Given the description of an element on the screen output the (x, y) to click on. 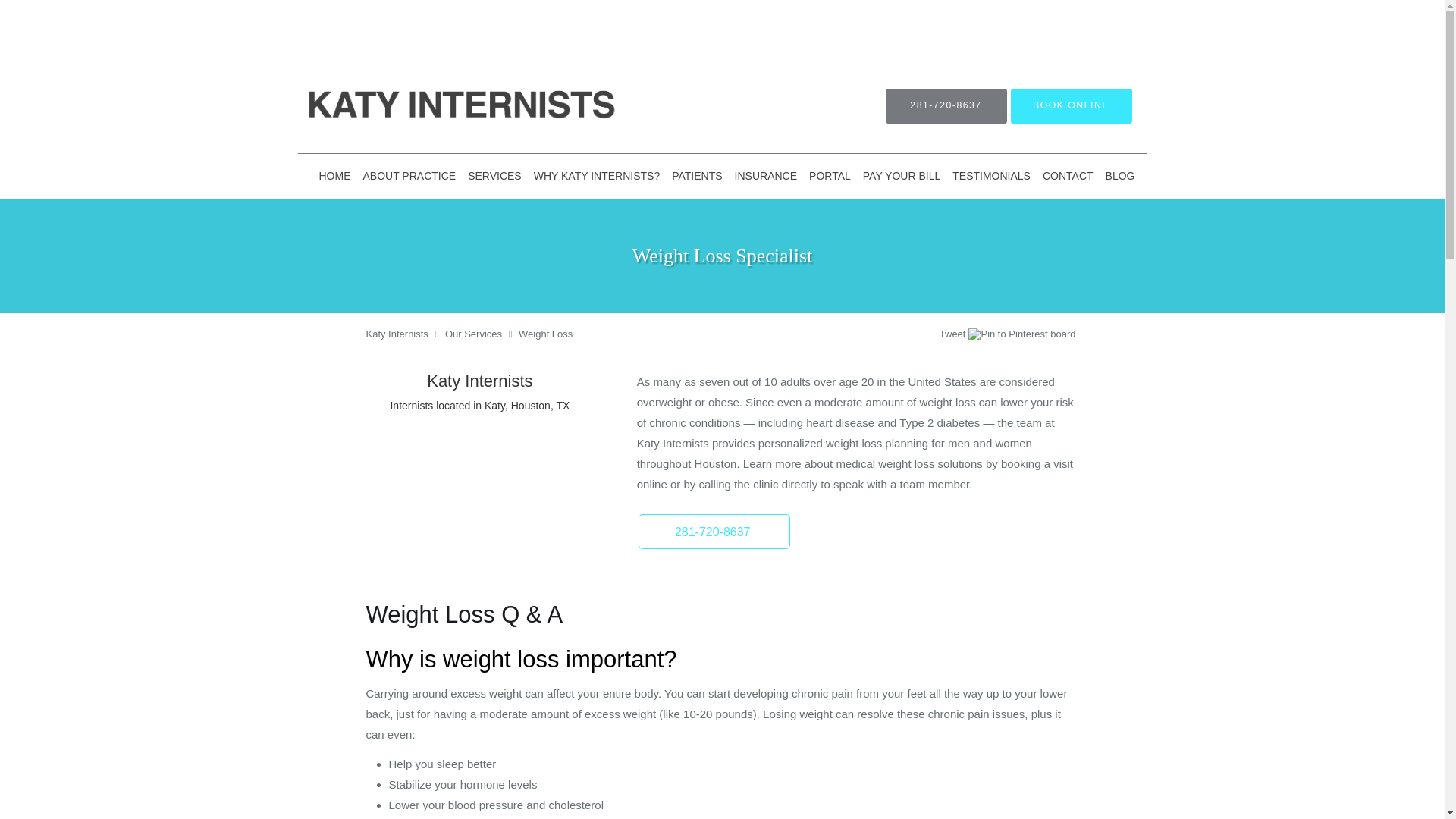
WHY KATY INTERNISTS? (596, 175)
PAY YOUR BILL (901, 175)
Facebook social button (880, 335)
INSURANCE (766, 175)
BOOK ONLINE (1070, 105)
TESTIMONIALS (991, 175)
HOME (334, 175)
PORTAL (830, 175)
281-720-8637 (946, 105)
ABOUT PRACTICE (408, 175)
